Given the description of an element on the screen output the (x, y) to click on. 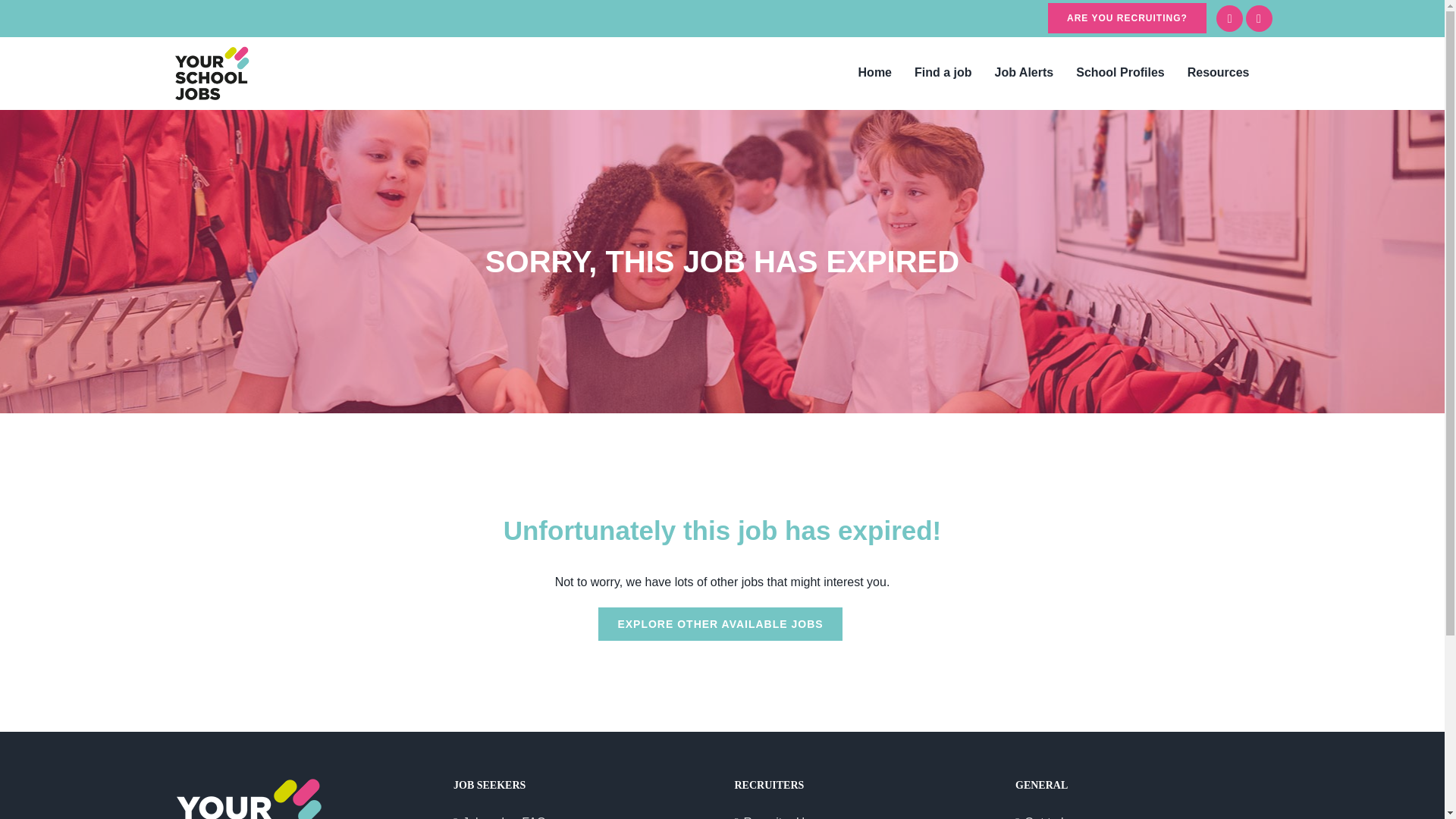
Jobseeker FAQs (583, 816)
Recruiter Home (863, 816)
EXPLORE OTHER AVAILABLE JOBS (719, 623)
Get to know us (1145, 816)
ARE YOU RECRUITING? (1127, 18)
School Profiles (1119, 72)
